Given the description of an element on the screen output the (x, y) to click on. 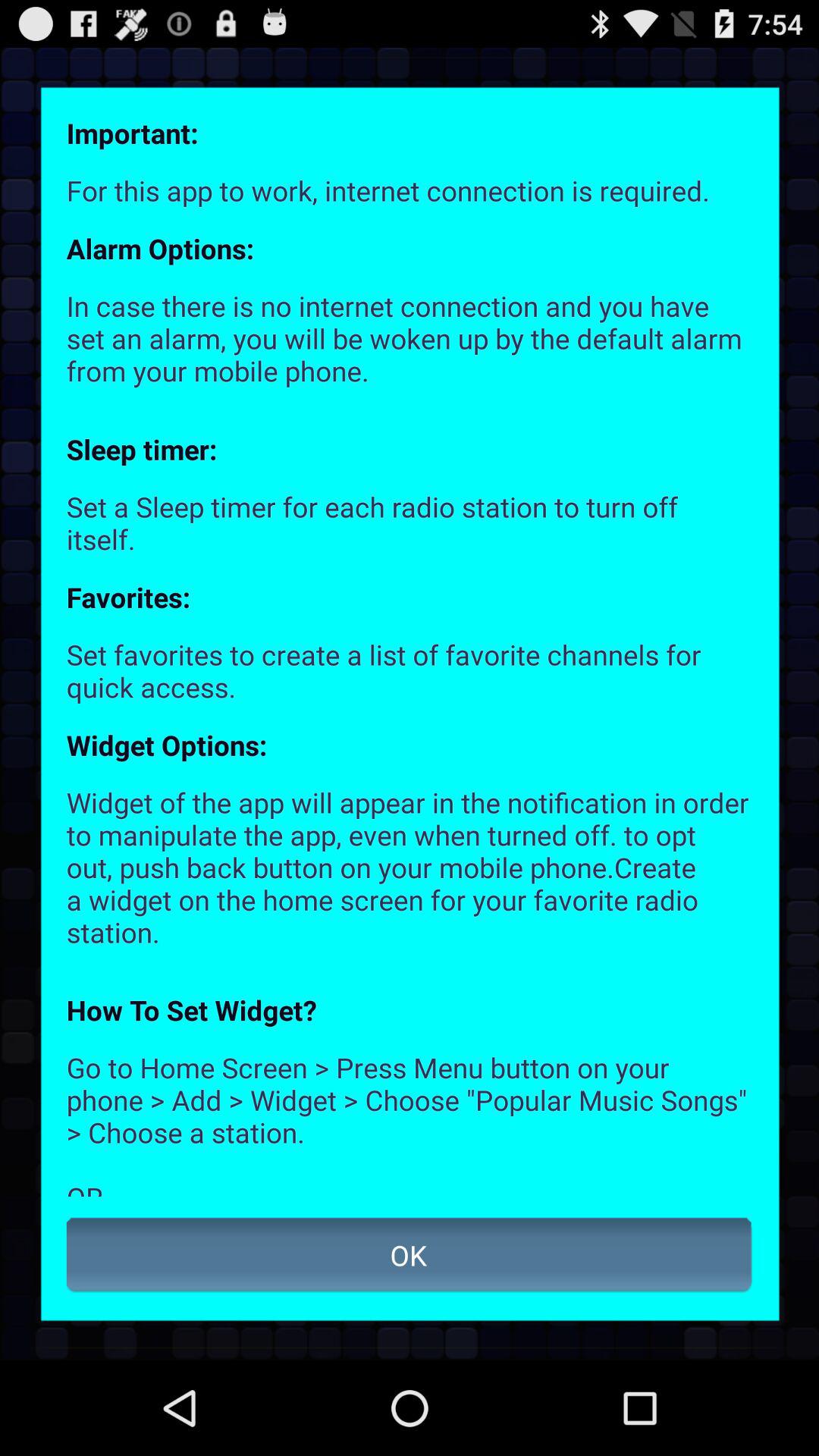
select the ok item (409, 1254)
